Given the description of an element on the screen output the (x, y) to click on. 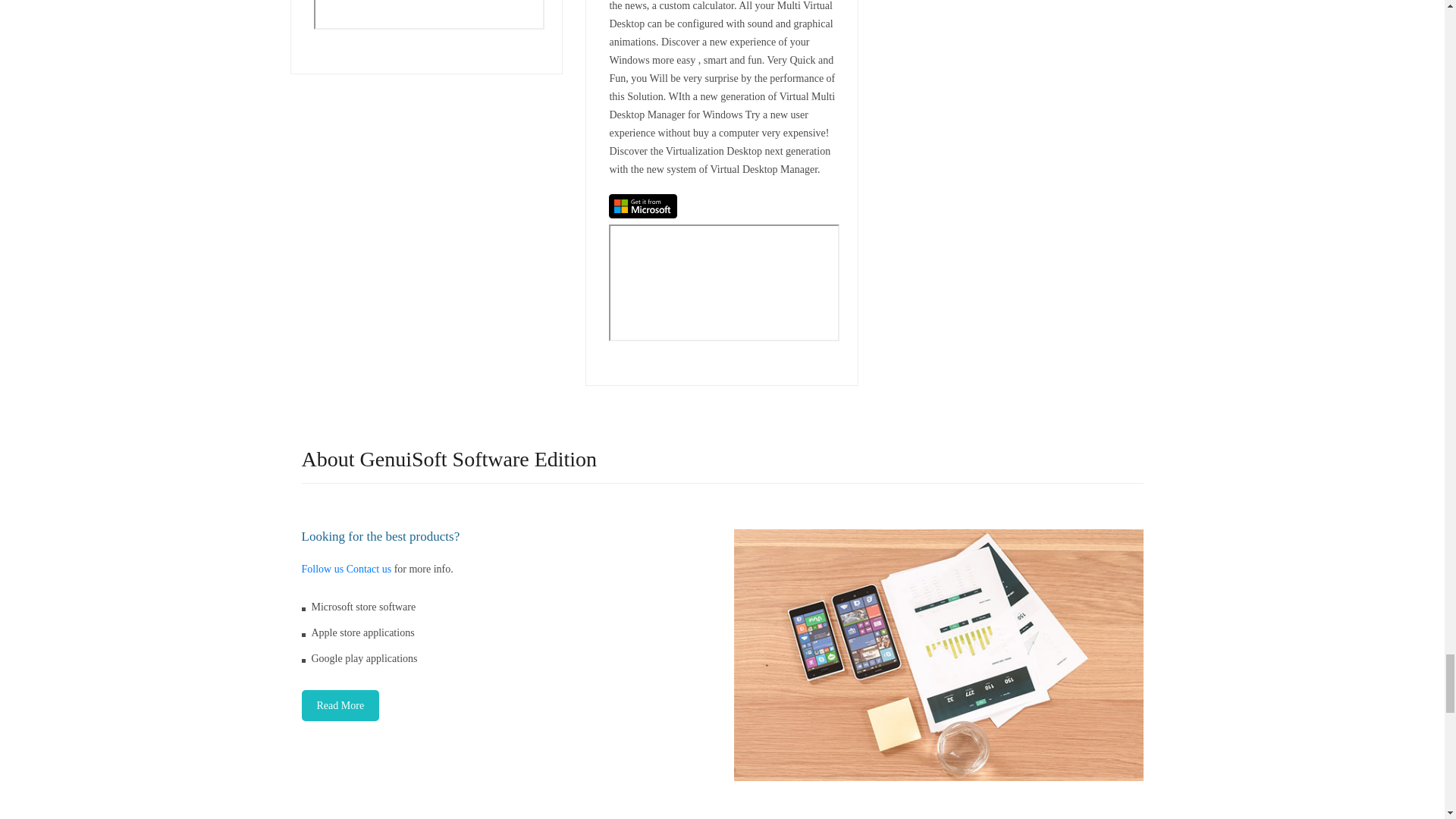
Google play applications (359, 658)
Apple store applications (357, 632)
Contact us (368, 568)
Follow us (322, 568)
Microsoft store software (358, 606)
Read More (340, 705)
